Given the description of an element on the screen output the (x, y) to click on. 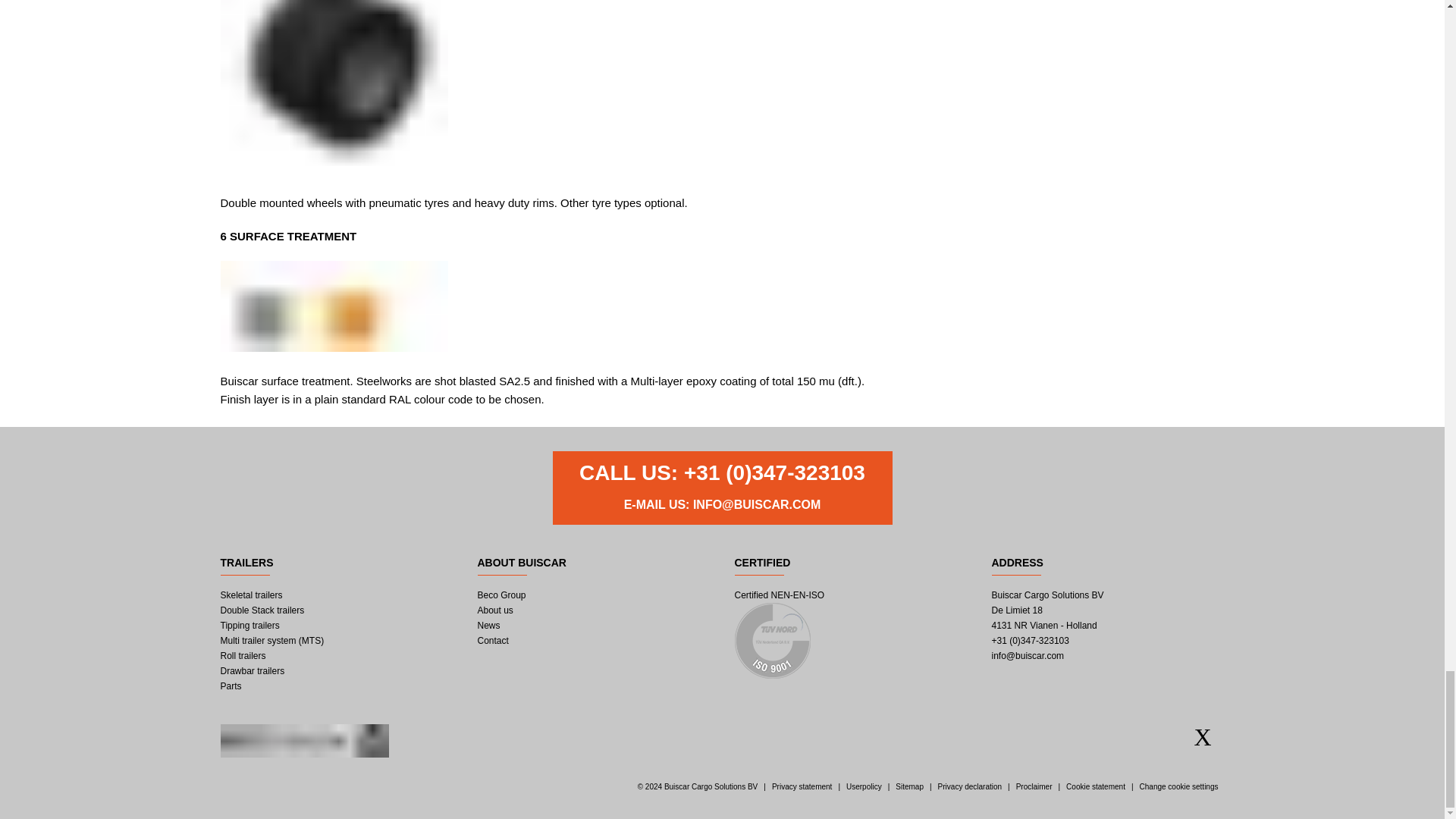
Privacy declaration (969, 786)
Beco Group (501, 594)
Sitemap (909, 786)
Double Stack trailers (261, 610)
Parts (230, 685)
Sitemap (909, 786)
Privacy statement (801, 786)
Mail Buiscar Cargo Solutions BV (1027, 655)
News (488, 624)
About us (495, 610)
Userpolicy (863, 786)
Privacy declaration (969, 786)
Drawbar trailers (251, 670)
Proclaimer (1034, 786)
Roll trailers (241, 655)
